Given the description of an element on the screen output the (x, y) to click on. 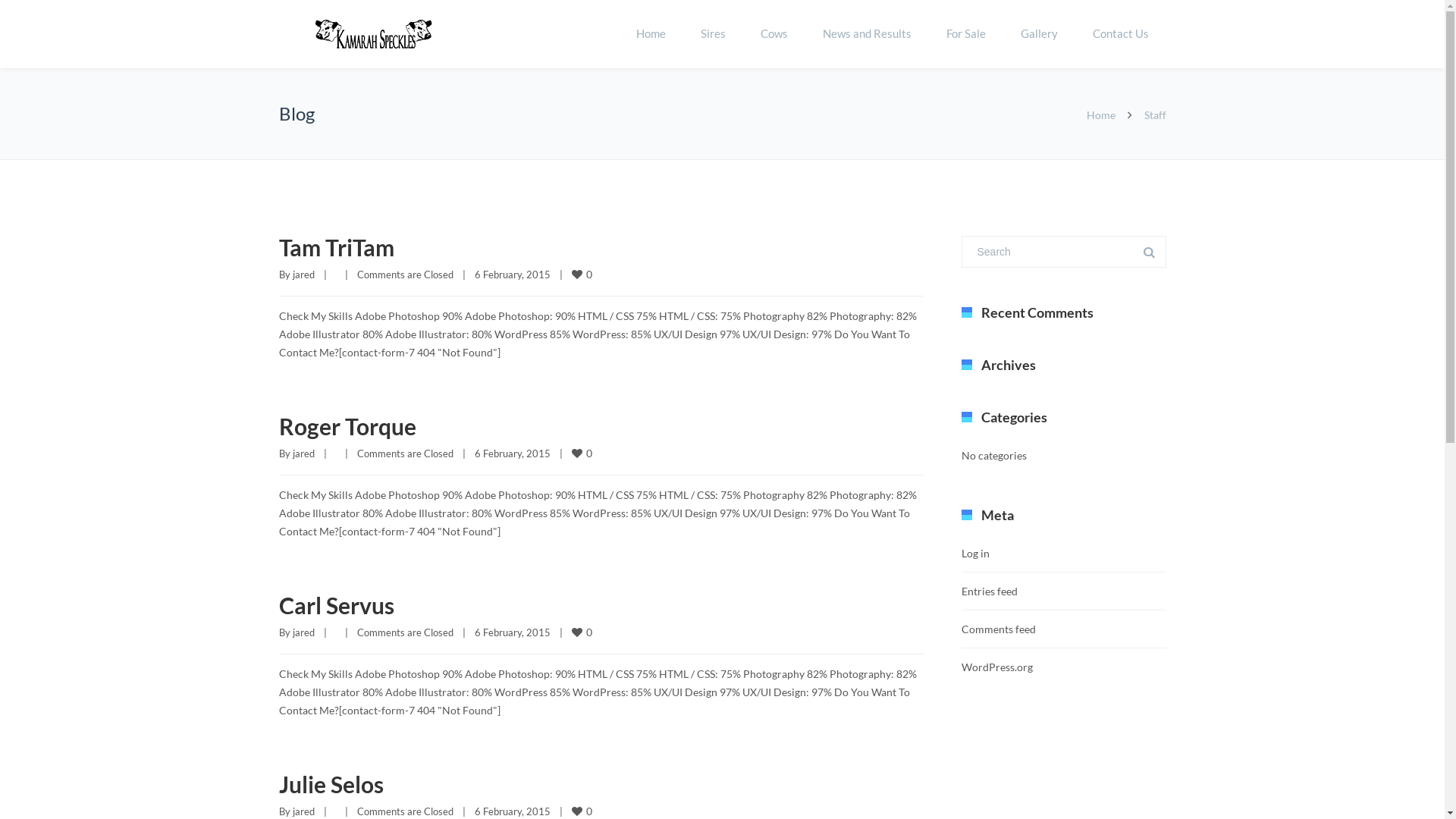
Home Element type: text (650, 34)
Kamarah Speckles Element type: hover (373, 34)
Log in Element type: text (975, 552)
Carl Servus Element type: text (336, 604)
For Sale Element type: text (965, 34)
Home Element type: text (1099, 114)
Entries feed Element type: text (989, 590)
News and Results Element type: text (866, 34)
0  Element type: text (582, 273)
0  Element type: text (582, 452)
WordPress.org Element type: text (996, 666)
Julie Selos Element type: text (331, 783)
Cows Element type: text (774, 34)
Tam TriTam Element type: text (336, 246)
Gallery Element type: text (1038, 34)
Comments feed Element type: text (998, 628)
0  Element type: text (582, 810)
Sires Element type: text (712, 34)
0  Element type: text (582, 631)
Contact Us Element type: text (1120, 34)
Roger Torque Element type: text (347, 425)
